Given the description of an element on the screen output the (x, y) to click on. 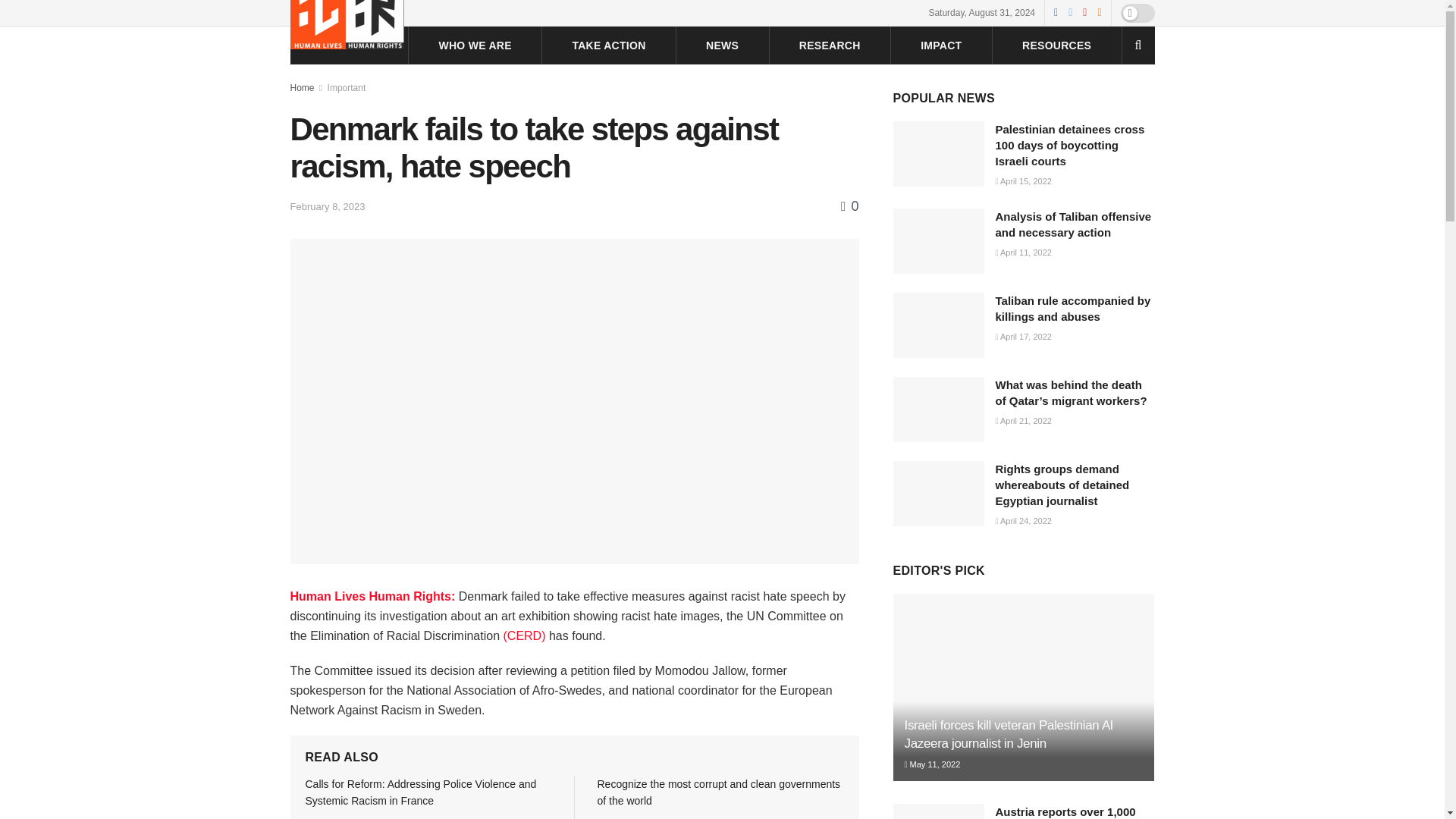
Home (301, 87)
IMPACT (940, 45)
RESOURCES (1056, 45)
HOME (362, 45)
Human Lives Human Rights: (373, 595)
Important (346, 87)
WHO WE ARE (474, 45)
NEWS (722, 45)
TAKE ACTION (608, 45)
0 (850, 206)
